Given the description of an element on the screen output the (x, y) to click on. 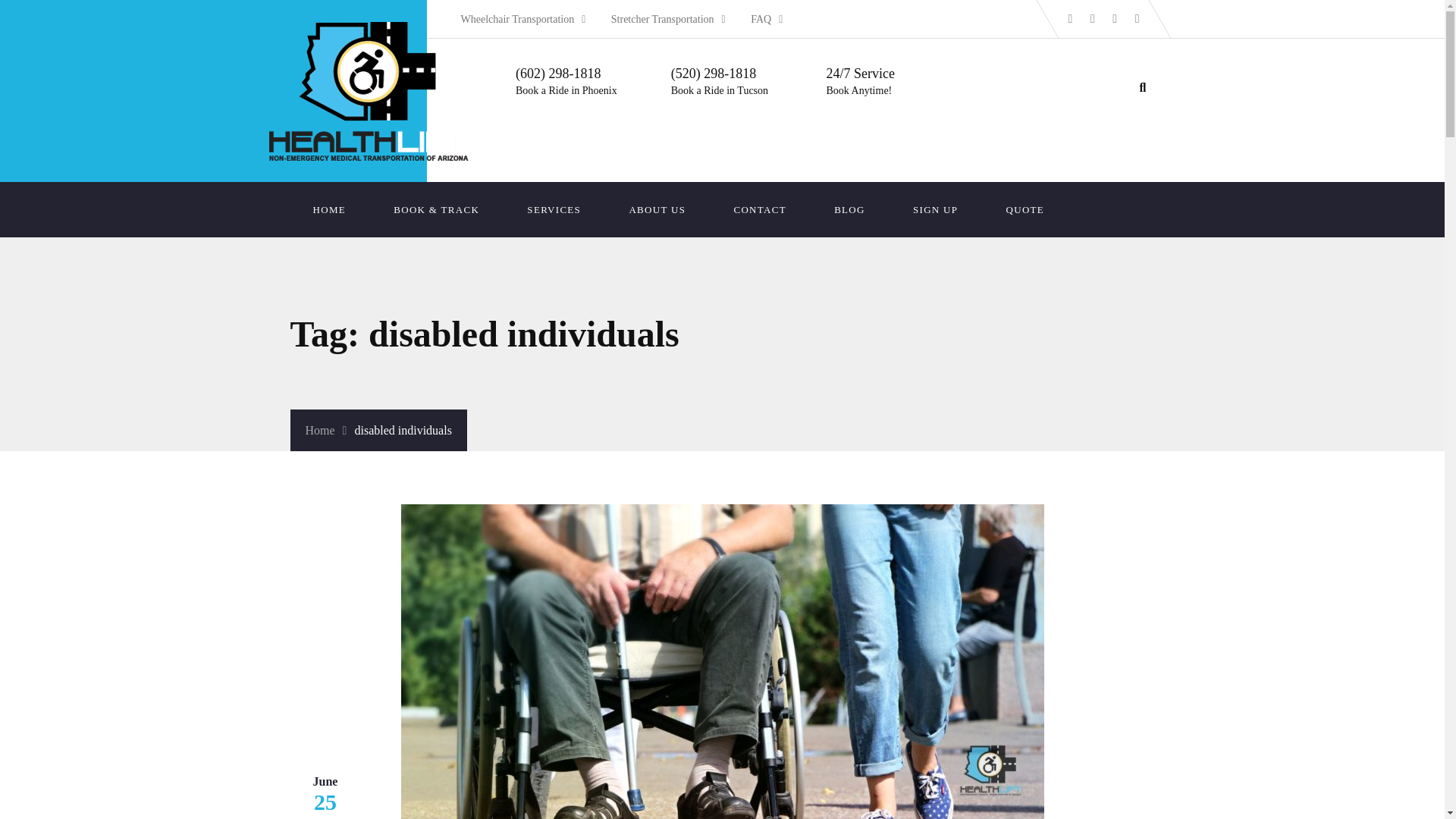
ABOUT US (656, 209)
Home (325, 430)
SIGN UP (934, 209)
Stretcher Transportation (668, 19)
BLOG (849, 209)
QUOTE (1025, 209)
Search (37, 17)
HOME (328, 209)
CONTACT (759, 209)
Wheelchair Transportation (523, 19)
